Given the description of an element on the screen output the (x, y) to click on. 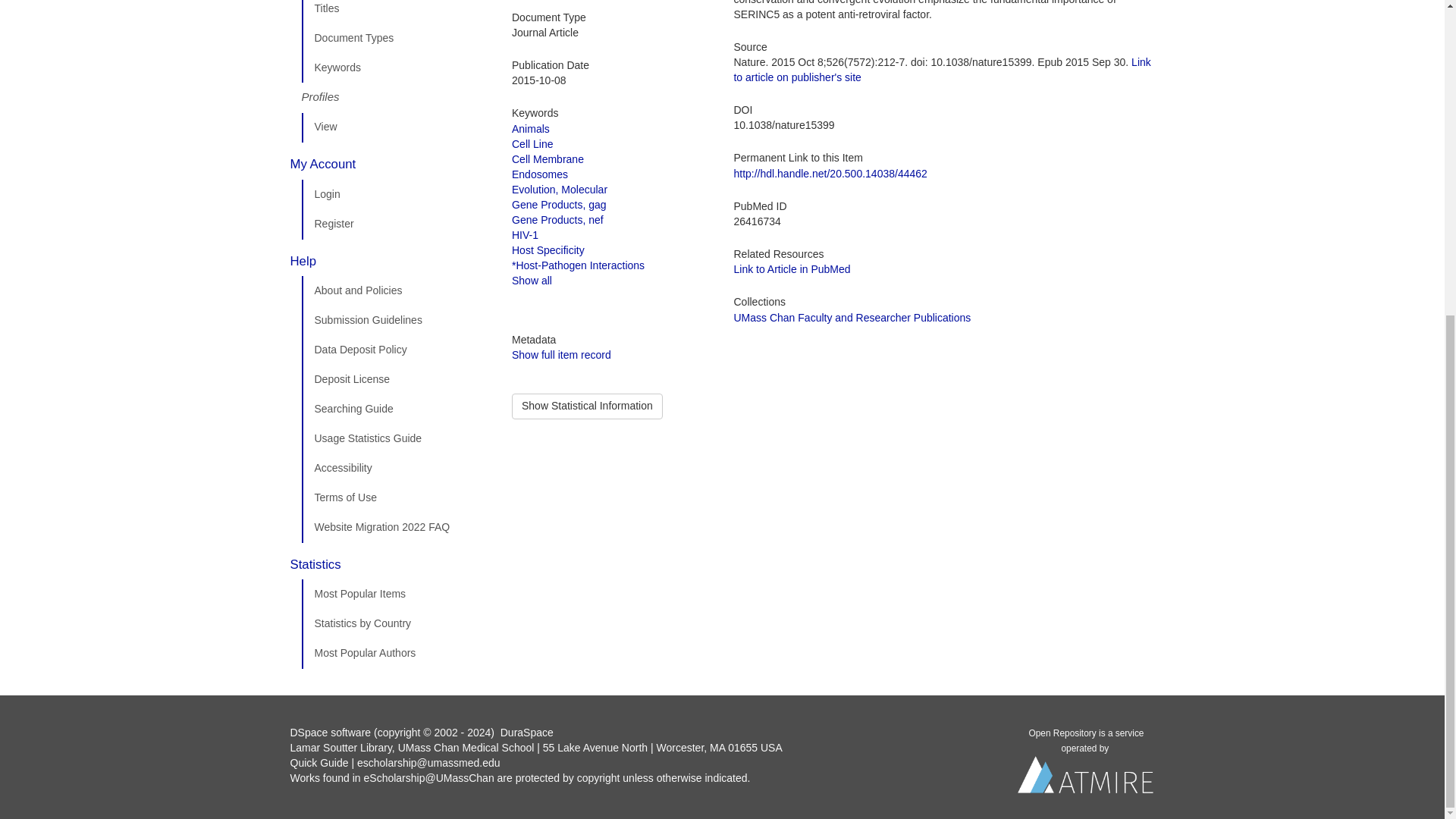
Searching Guide (395, 409)
Register (395, 224)
Accessibility (395, 468)
About and Policies (395, 291)
Keywords (395, 68)
Document Types (395, 38)
Titles (395, 12)
Terms of Use (395, 498)
Data Deposit Policy (395, 349)
Usage Statistics Guide (395, 439)
